Given the description of an element on the screen output the (x, y) to click on. 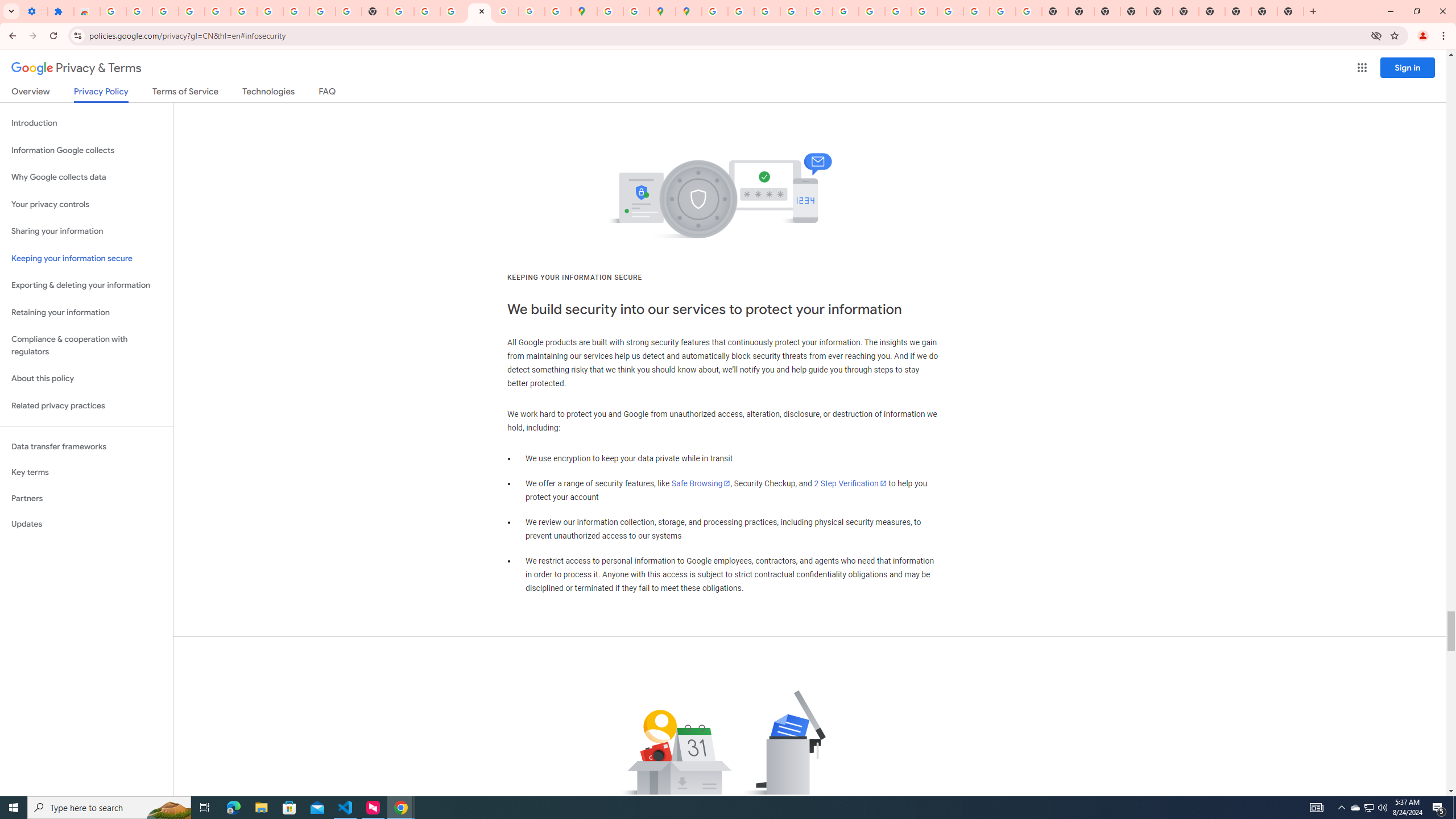
New Tab (1290, 11)
Related privacy practices (86, 405)
Settings - On startup (34, 11)
